Given the description of an element on the screen output the (x, y) to click on. 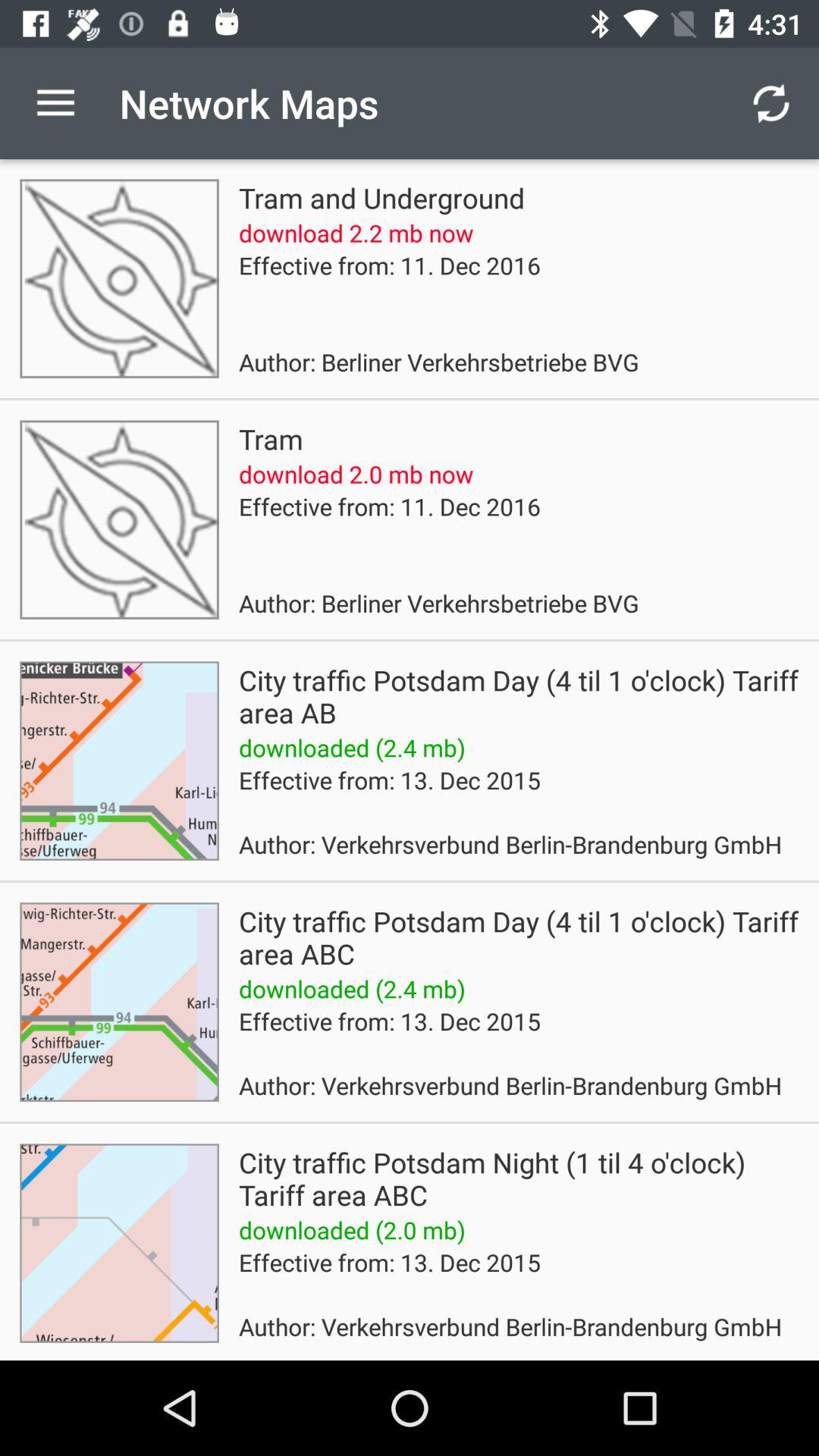
choose the icon to the left of the network maps icon (55, 103)
